Given the description of an element on the screen output the (x, y) to click on. 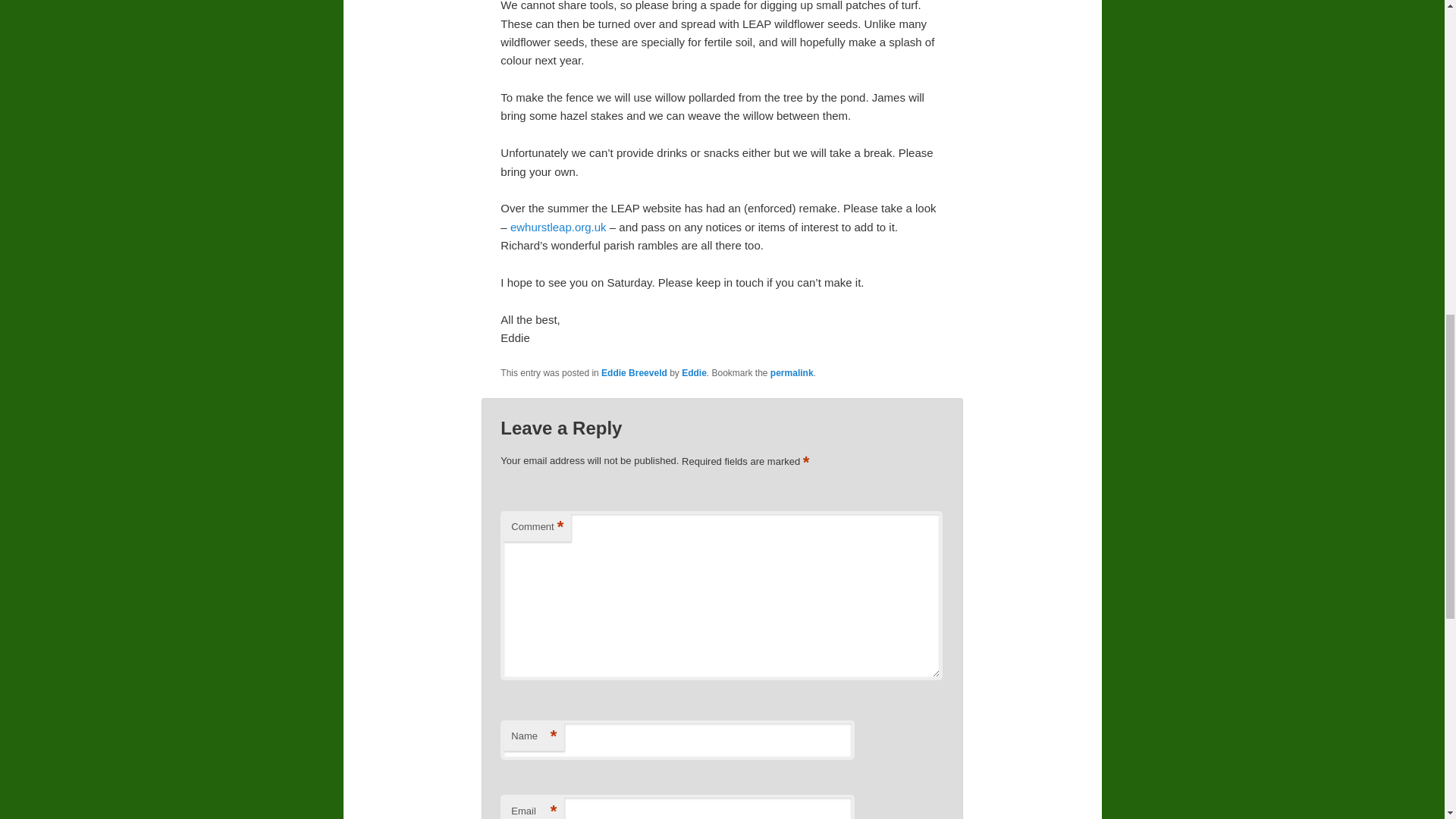
ewhurstleap.org.uk (559, 226)
permalink (791, 372)
Eddie Breeveld (633, 372)
Eddie (693, 372)
